Given the description of an element on the screen output the (x, y) to click on. 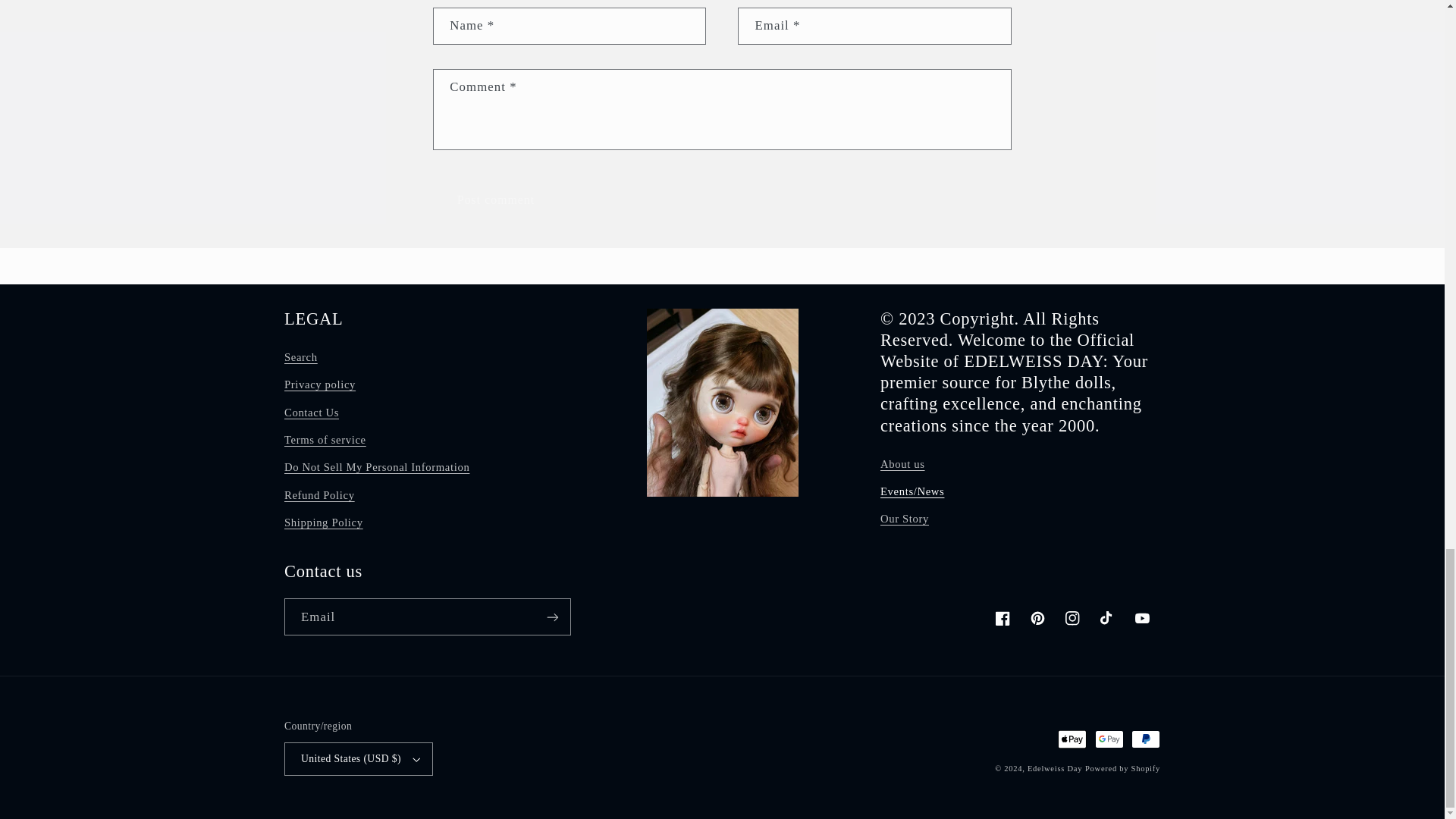
Post comment (494, 200)
